Given the description of an element on the screen output the (x, y) to click on. 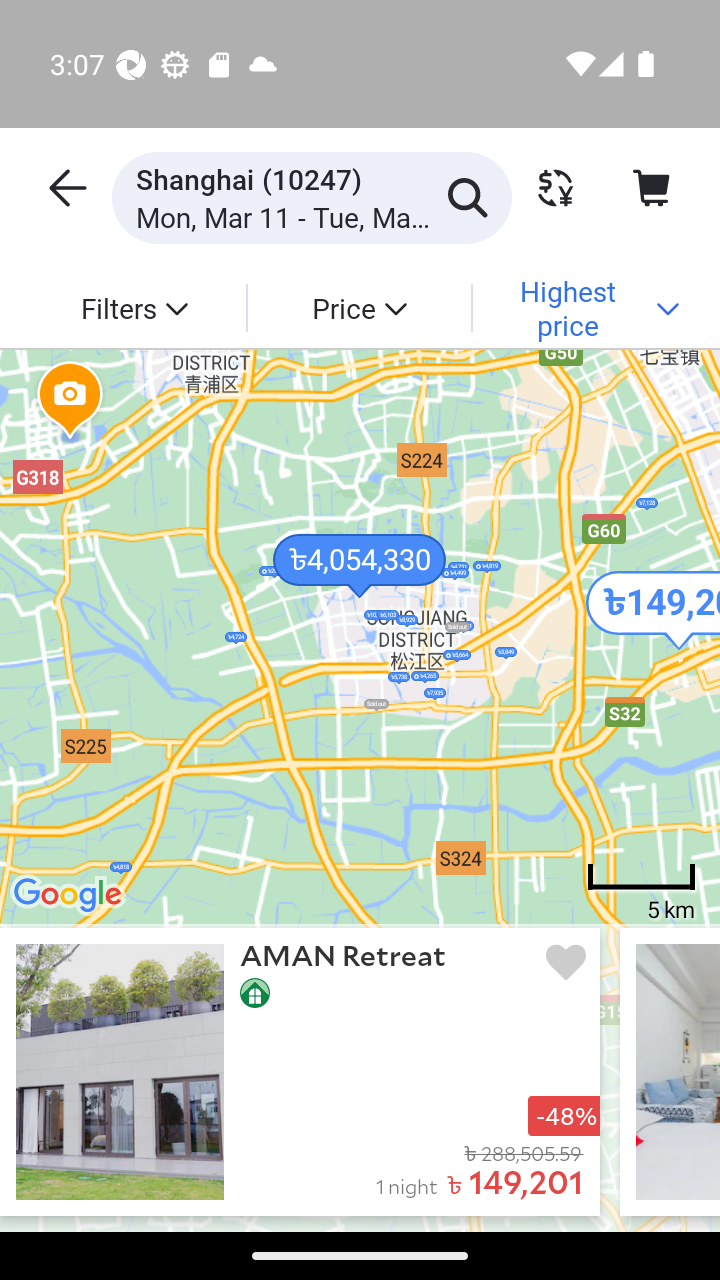
Filters (134, 307)
Price (358, 307)
Highest price (584, 307)
AMAN Retreat -48% 1 night   ৳ 149,201 ৳ 288,505.59 (299, 1072)
